Given the description of an element on the screen output the (x, y) to click on. 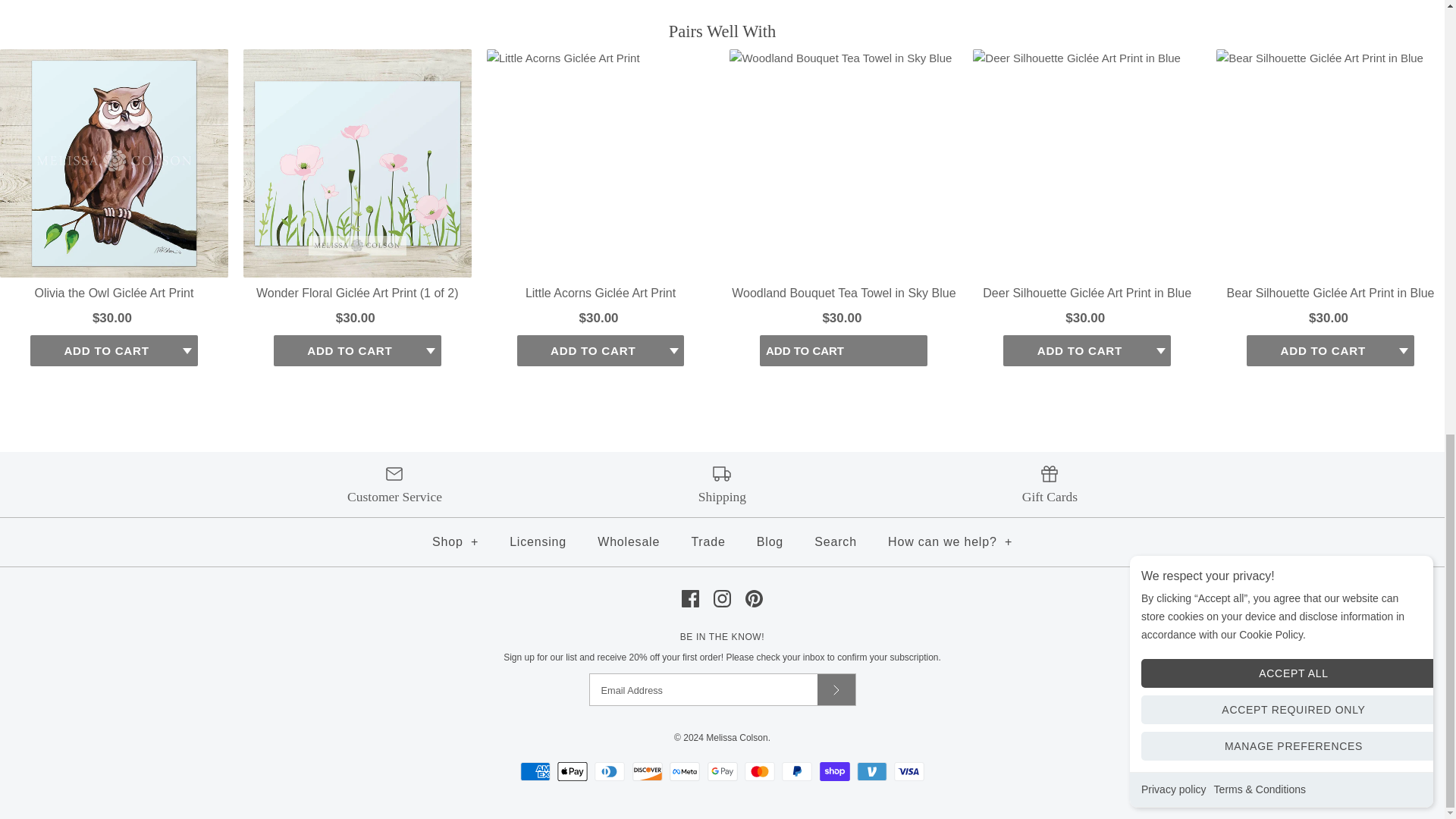
American Express (534, 771)
Facebook (689, 598)
Apple Pay (572, 771)
Pinterest (753, 598)
Meta Pay (684, 771)
Instagram (721, 598)
Diners Club (609, 771)
Discover (646, 771)
